Given the description of an element on the screen output the (x, y) to click on. 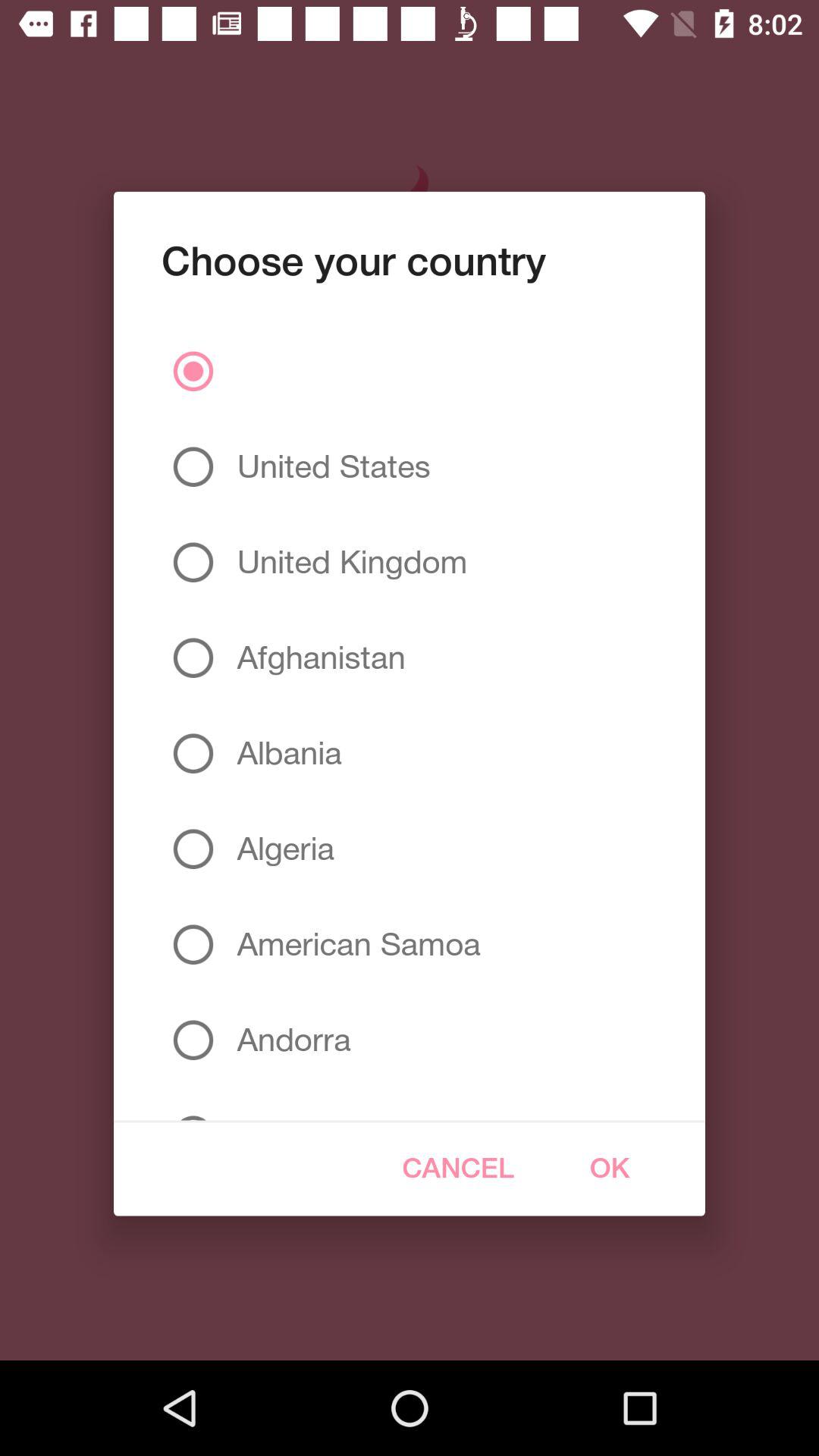
flip until ok icon (609, 1167)
